Given the description of an element on the screen output the (x, y) to click on. 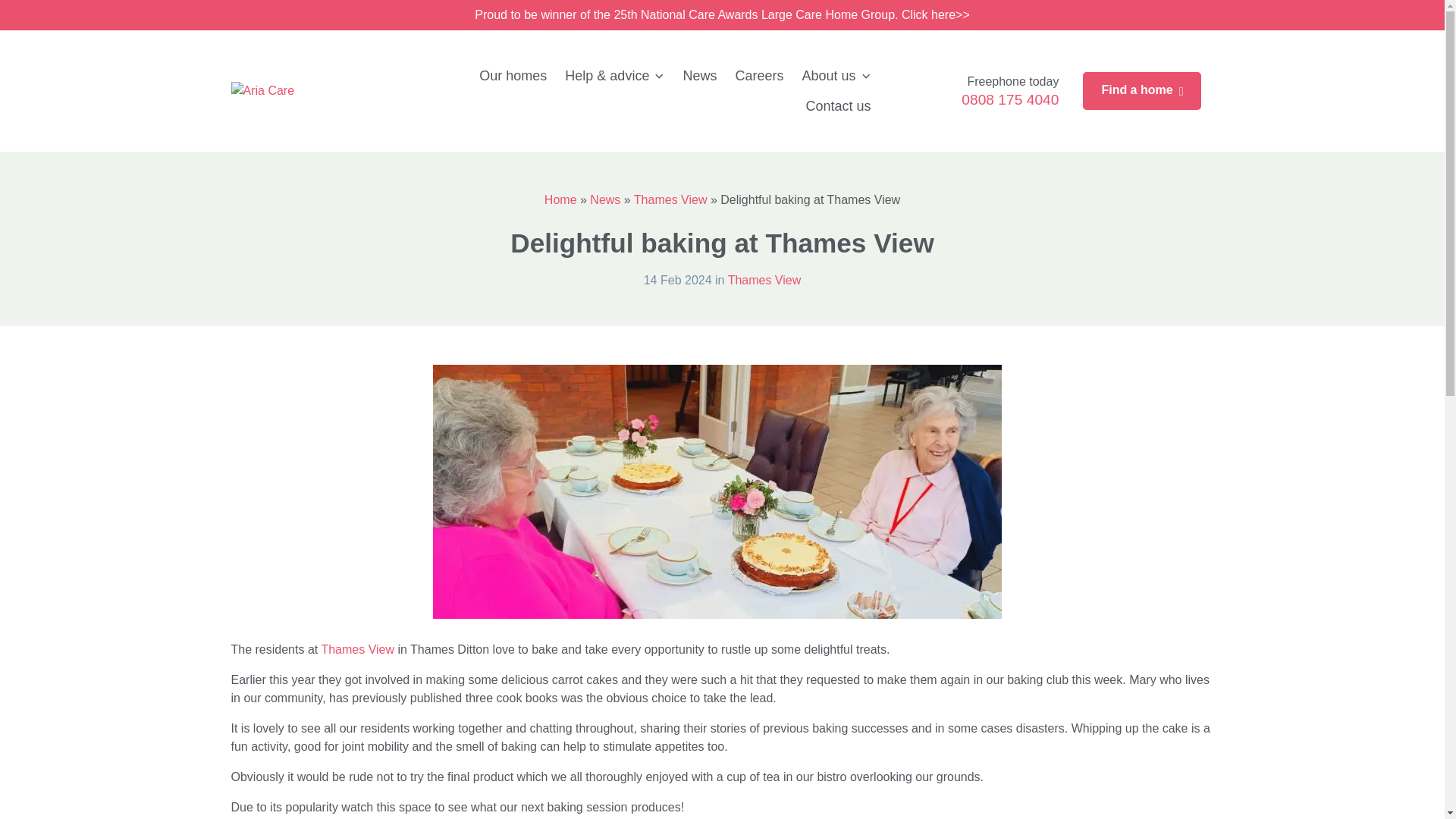
Thames View (670, 199)
Careers (758, 75)
Thames View (357, 649)
Home (560, 199)
About us (835, 75)
Aria Care (262, 90)
Contact us (837, 105)
0808 175 4040 (1009, 99)
Find a home (1142, 90)
News (698, 75)
